Given the description of an element on the screen output the (x, y) to click on. 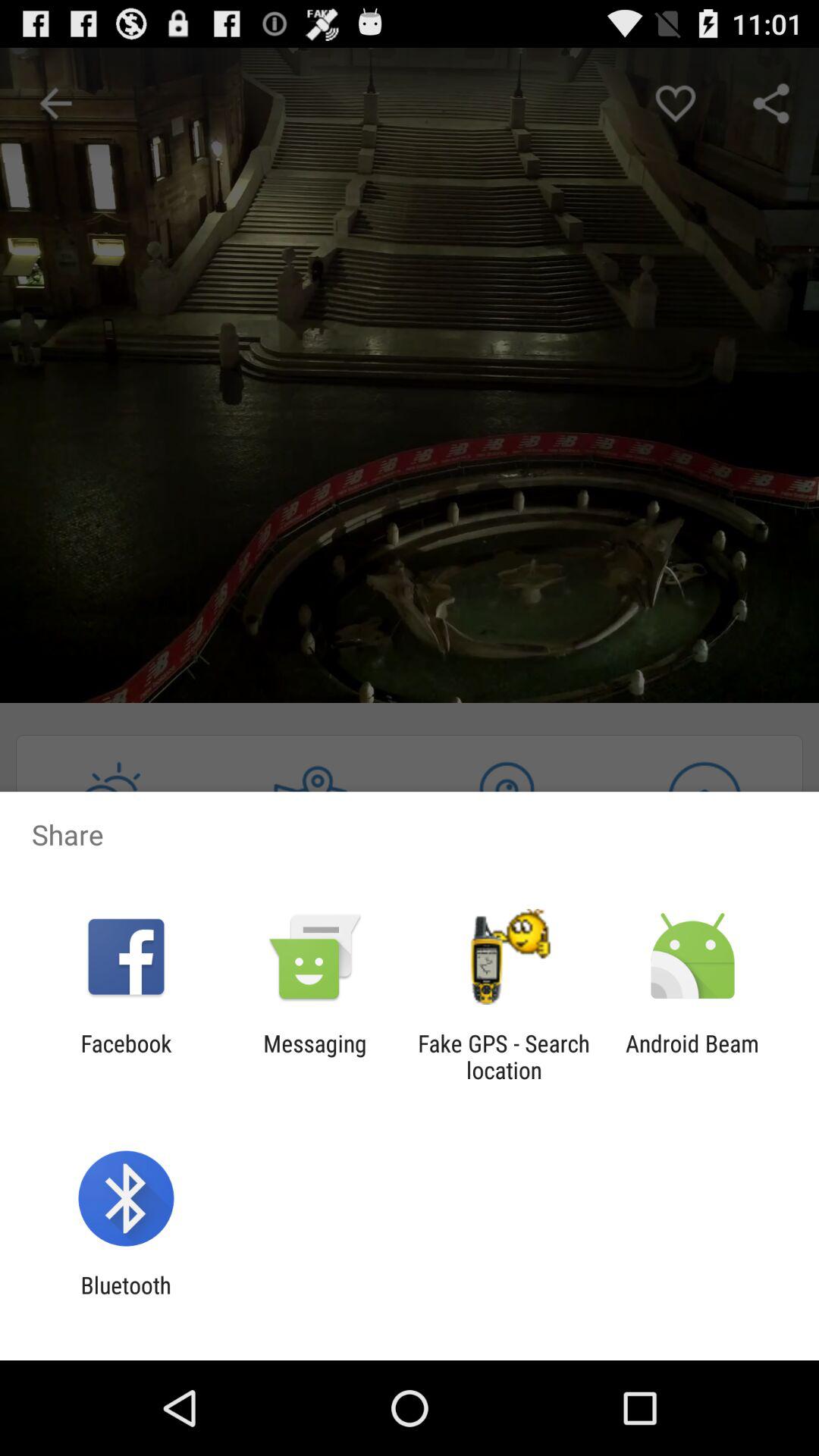
tap the item to the left of fake gps search (314, 1056)
